Given the description of an element on the screen output the (x, y) to click on. 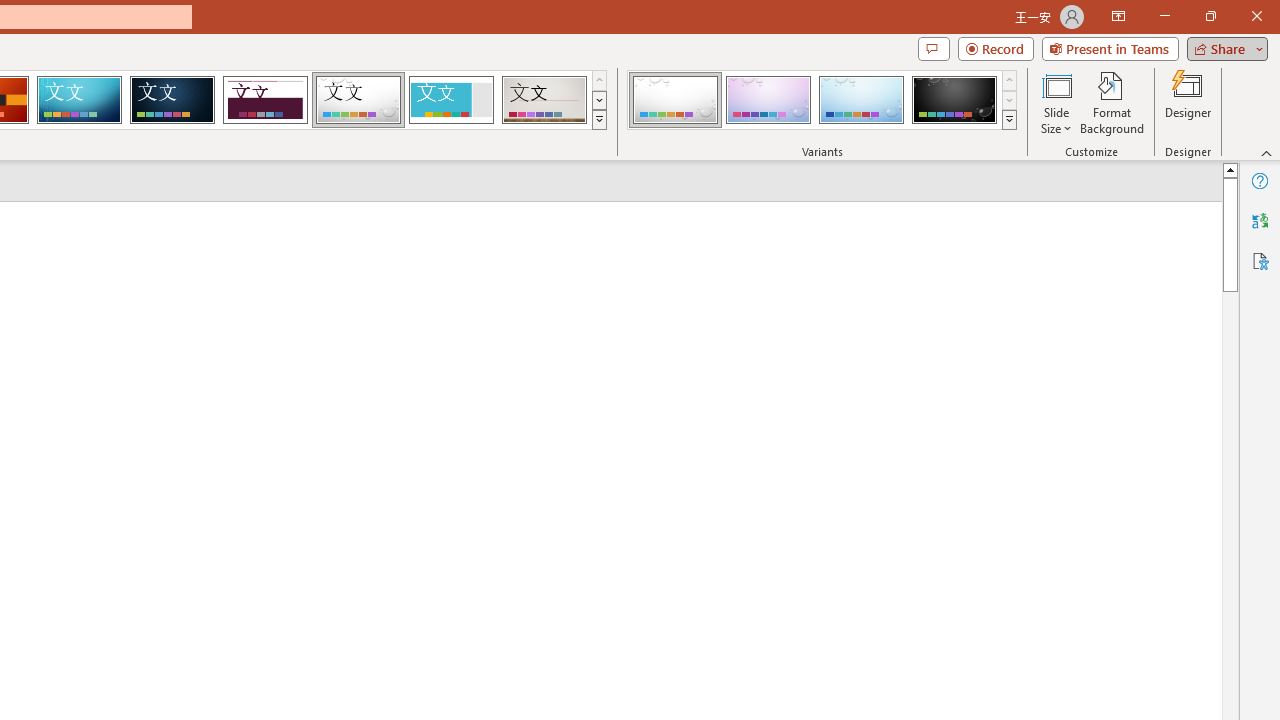
Variants (1009, 120)
Themes (598, 120)
Droplet Variant 4 (953, 100)
AutomationID: ThemeVariantsGallery (822, 99)
Dividend (265, 100)
Gallery (544, 100)
Slide Size (1056, 102)
